Given the description of an element on the screen output the (x, y) to click on. 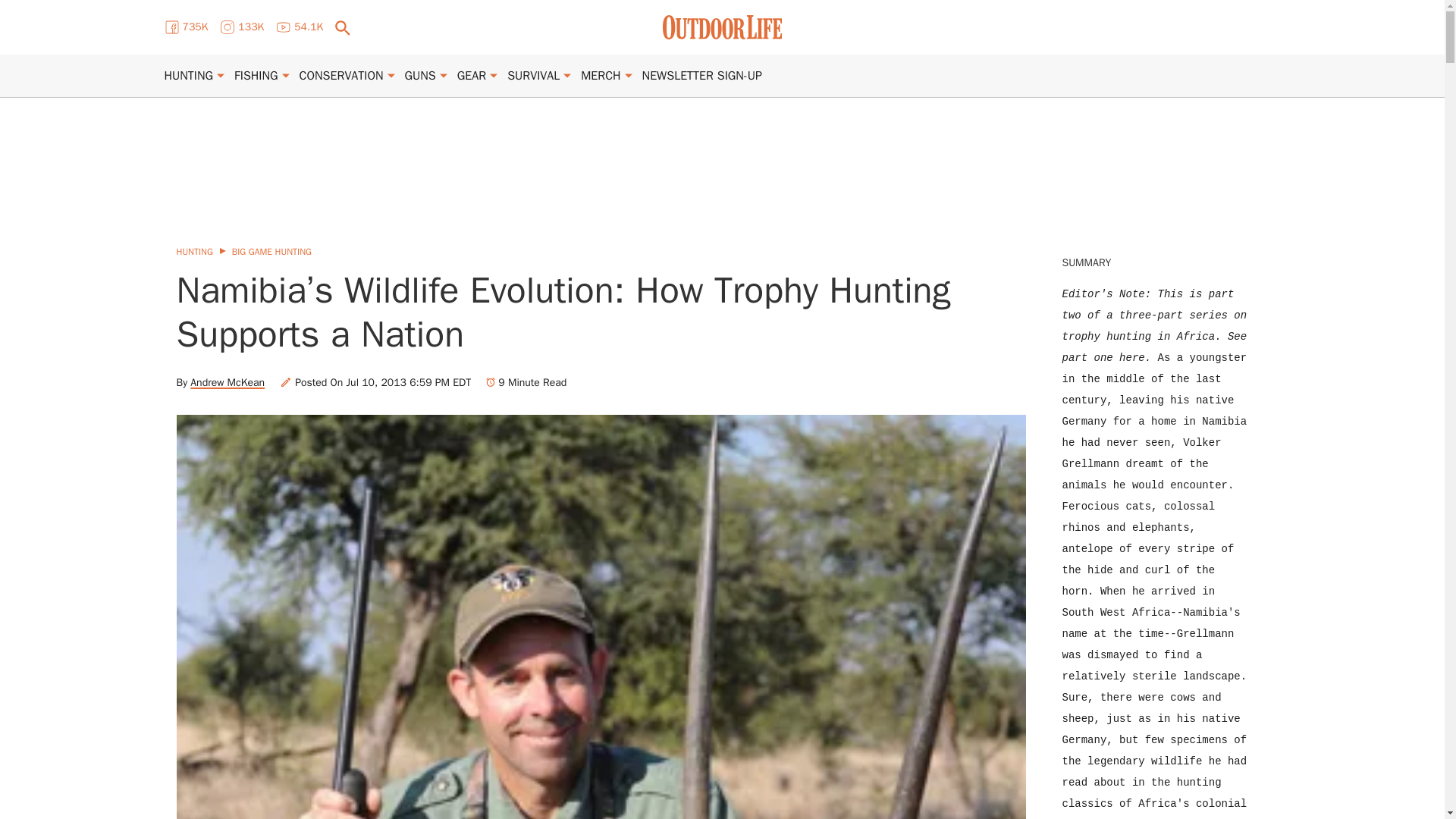
Fishing (256, 75)
Gear (471, 75)
Survival (532, 75)
Hunting (187, 75)
Conservation (341, 75)
Newsletter Sign-up (701, 75)
Guns (419, 75)
Merch (600, 75)
